Given the description of an element on the screen output the (x, y) to click on. 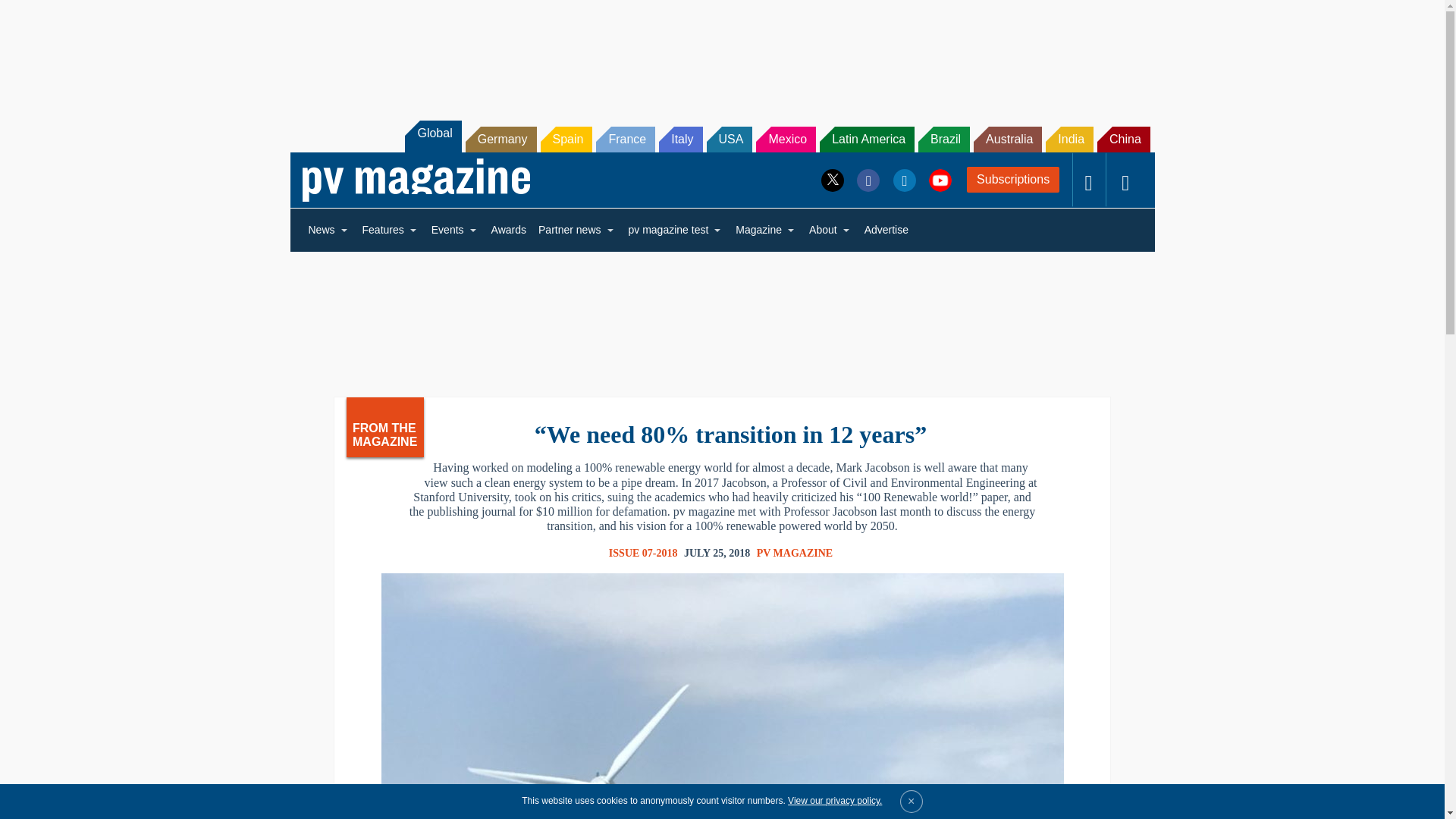
pv magazine - Photovoltaics Markets and Technology (415, 179)
Wednesday, July 25, 2018, 12:32 pm (716, 553)
Spain (566, 139)
Germany (501, 139)
Posts by pv magazine (794, 552)
3rd party ad content (721, 314)
Brazil (943, 139)
Italy (680, 139)
Australia (1008, 139)
China (1123, 139)
pv magazine - Photovoltaics Markets and Technology (415, 180)
Subscriptions (1012, 179)
3rd party ad content (721, 51)
India (1069, 139)
USA (729, 139)
